Given the description of an element on the screen output the (x, y) to click on. 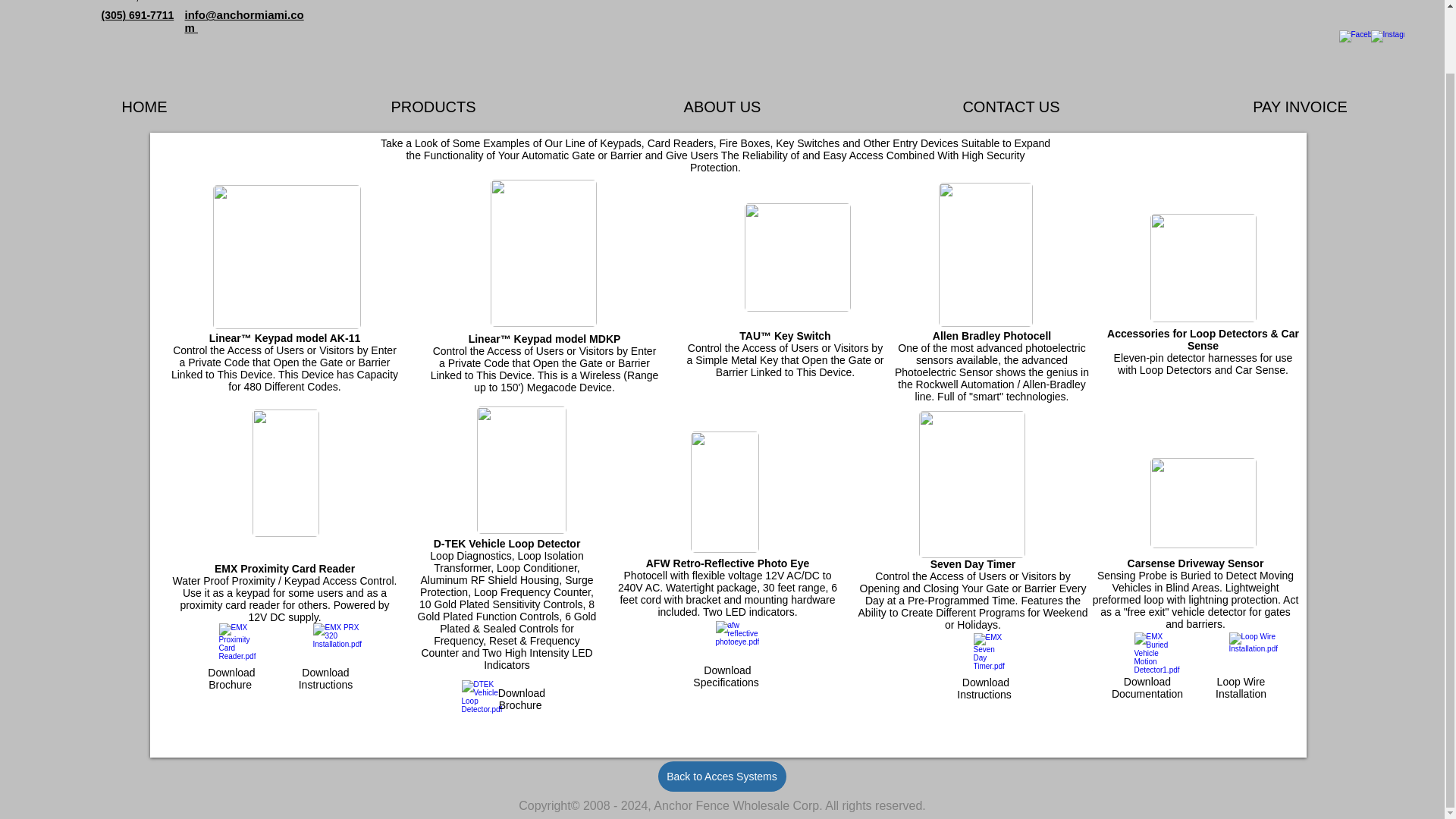
Miami, FL 33147 (148, 1)
CONTACT US (1011, 106)
Back to Acces Systems (722, 776)
PRODUCTS (433, 106)
HOME (144, 106)
ABOUT US (722, 106)
